Given the description of an element on the screen output the (x, y) to click on. 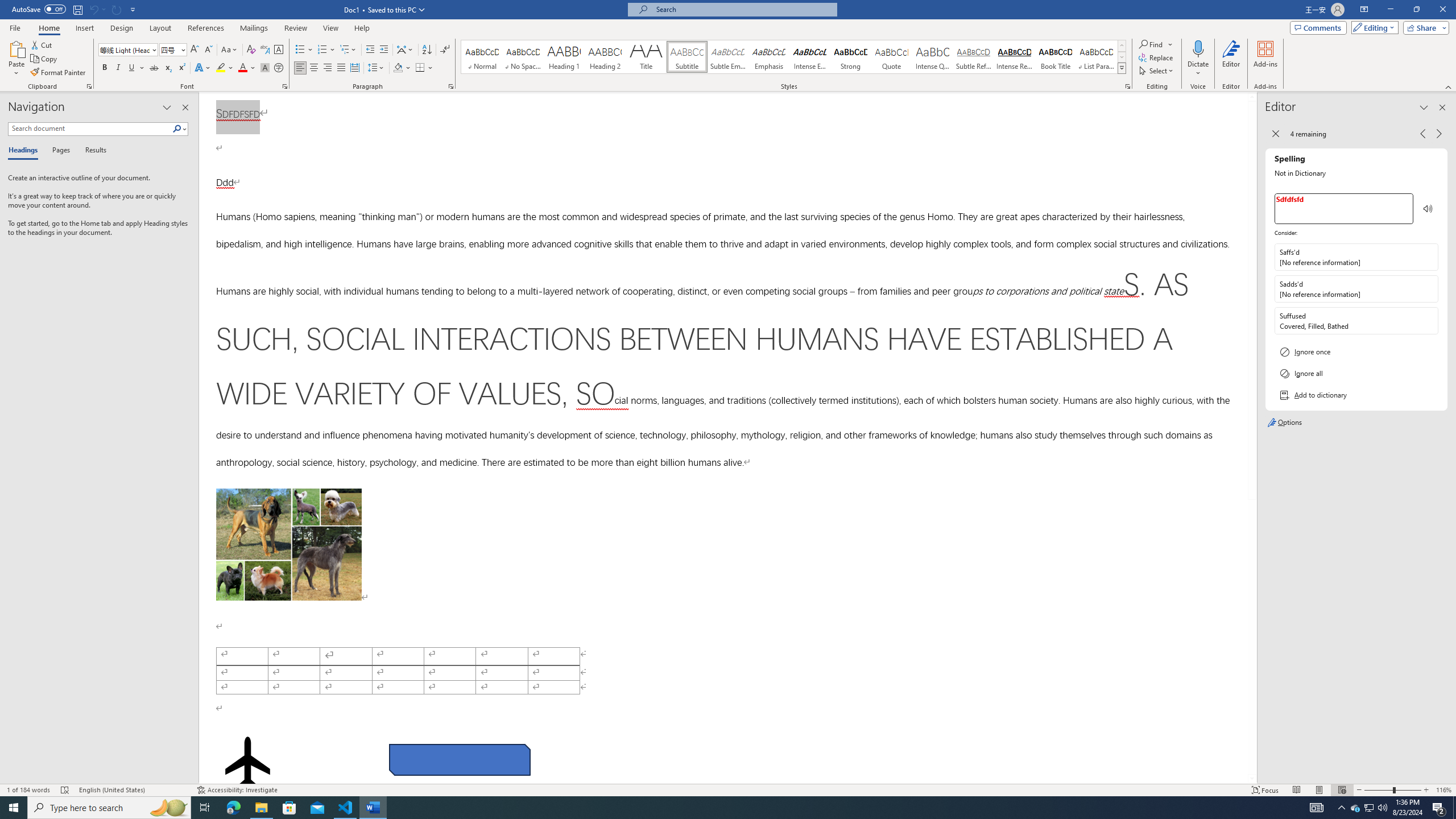
Share (1423, 27)
Zoom (1392, 790)
Ignore once (1356, 351)
Subscript (167, 67)
Back (1275, 133)
Bold (104, 67)
Home (48, 28)
Title (646, 56)
Subtle Reference (973, 56)
Morphological variation in six dogs (288, 544)
Font (124, 49)
Save (77, 9)
Subtle Emphasis (727, 56)
Zoom In (1426, 790)
